Given the description of an element on the screen output the (x, y) to click on. 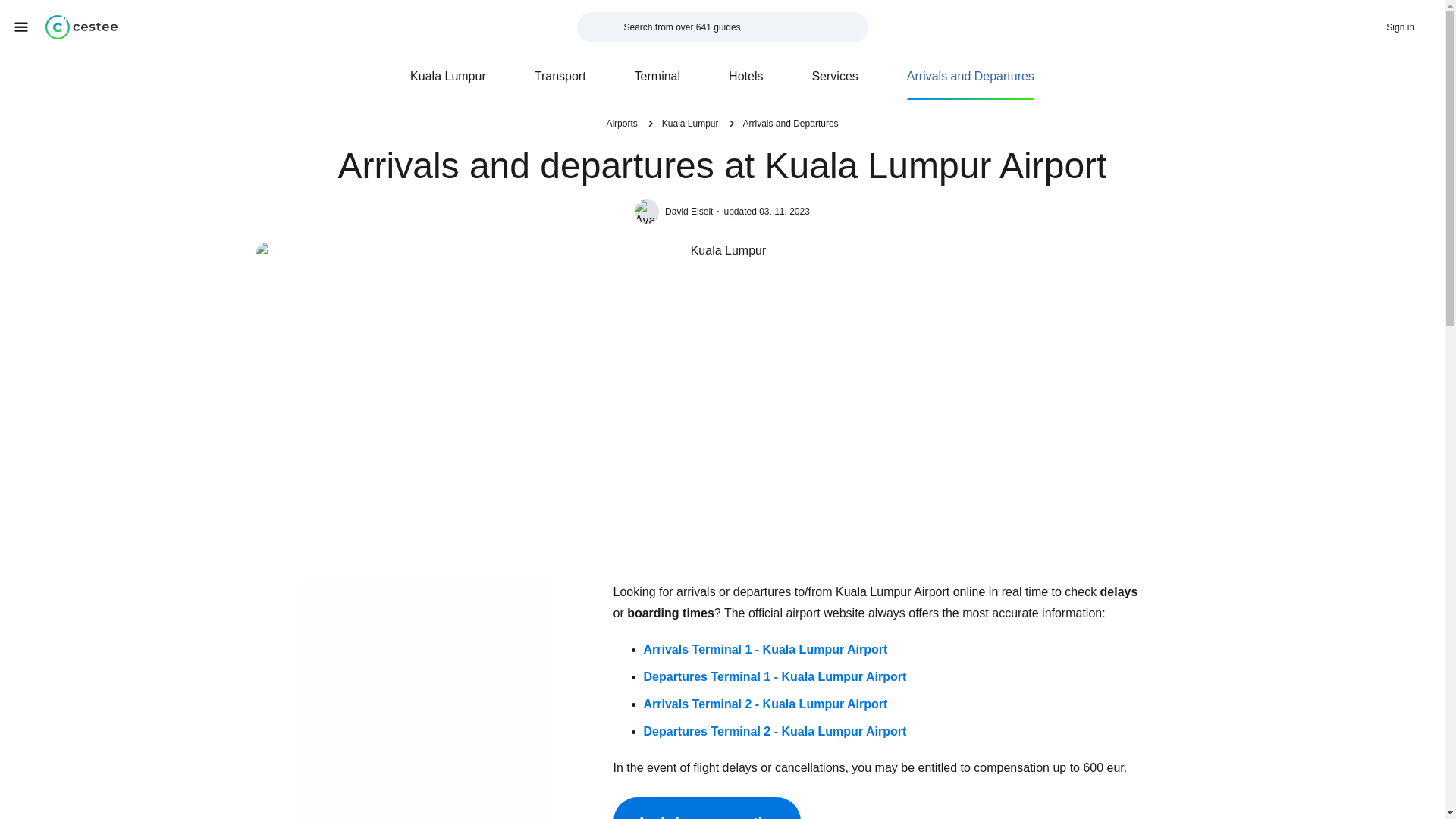
Apply for compensation (705, 807)
Arrivals Terminal 2 - Kuala Lumpur Airport (764, 703)
Airports (621, 123)
Hotels (745, 76)
Arrivals and Departures (790, 123)
Arrivals and Departures (970, 76)
Transport (560, 76)
Departures Terminal 2 - Kuala Lumpur Airport (774, 730)
David Eiselt (692, 211)
Departures Terminal 1 - Kuala Lumpur Airport (774, 676)
